Given the description of an element on the screen output the (x, y) to click on. 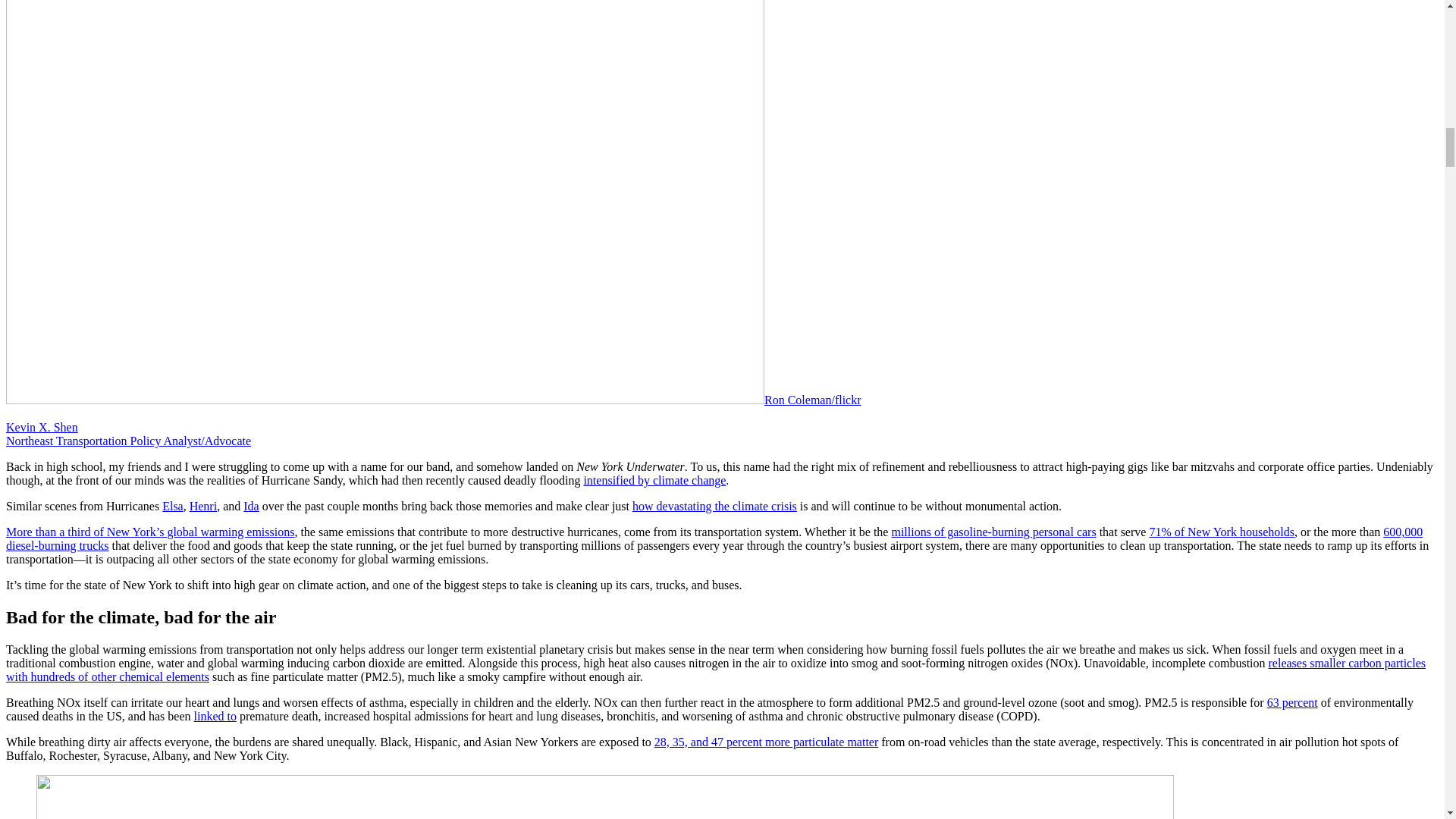
millions of gasoline-burning personal cars (993, 531)
600,000 diesel-burning trucks (713, 538)
28, 35, and 47 percent more particulate matter (765, 741)
how devastating the climate crisis (713, 505)
linked to (214, 716)
Henri (202, 505)
Ida (251, 505)
63 percent (1291, 702)
intensified by climate change (654, 480)
